Given the description of an element on the screen output the (x, y) to click on. 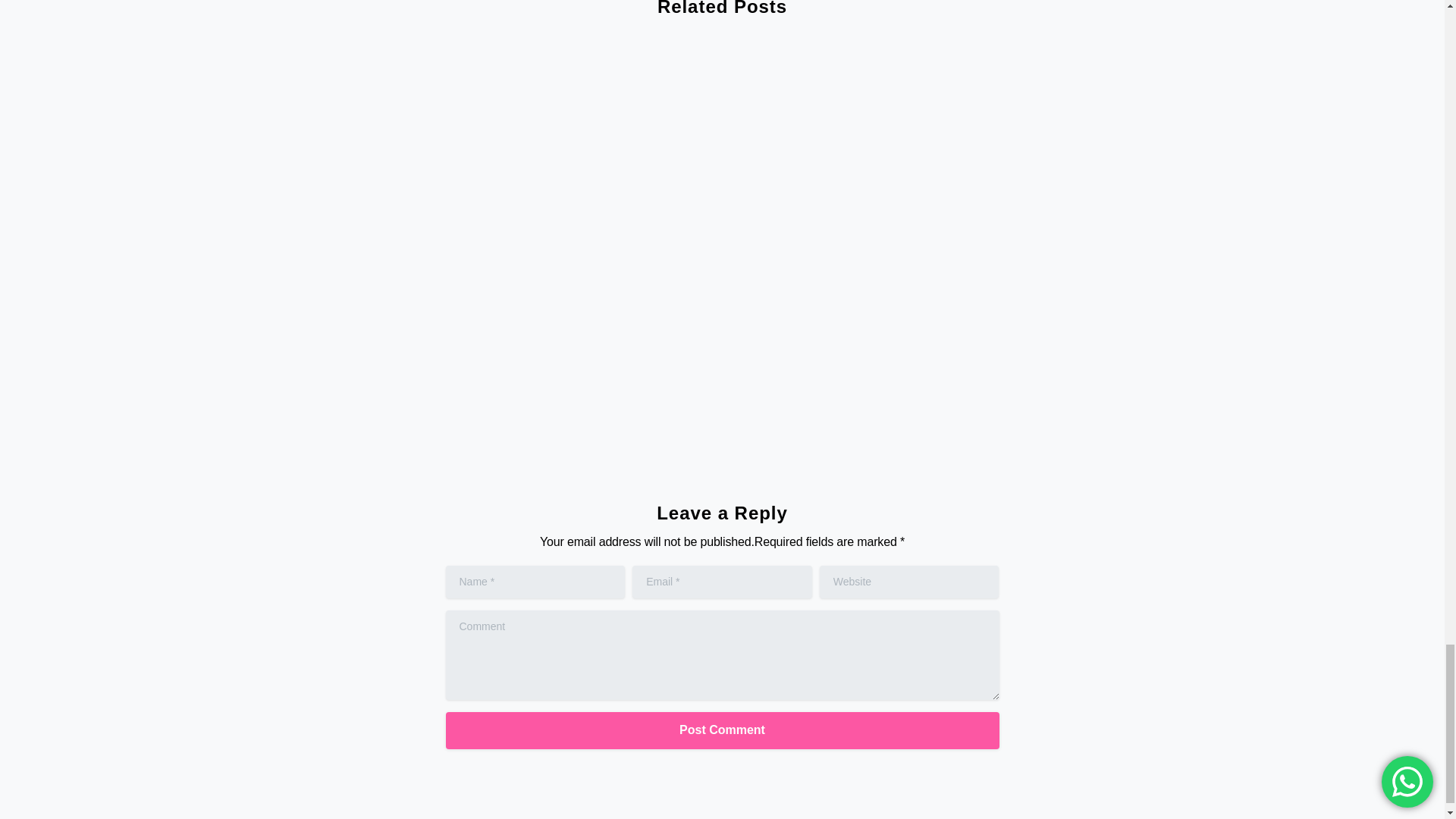
Post Comment (721, 730)
